Given the description of an element on the screen output the (x, y) to click on. 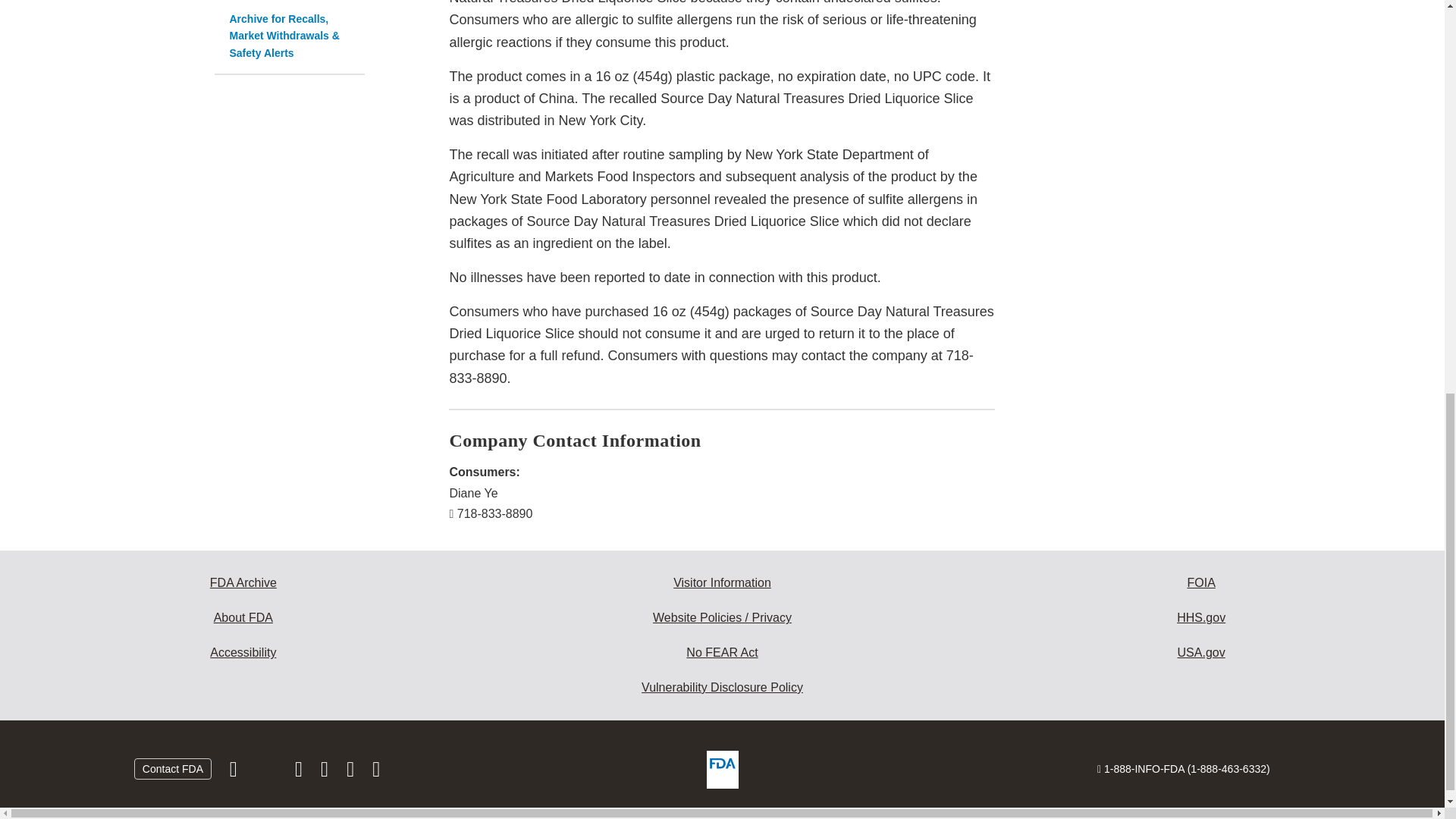
Health and Human Services (1200, 617)
Follow FDA on Facebook (234, 772)
Subscribe to FDA RSS feeds (376, 772)
Follow FDA on LinkedIn (326, 772)
Freedom of Information Act (1200, 582)
Follow FDA on Instagram (299, 772)
Follow FDA on X (266, 772)
View FDA videos on YouTube (352, 772)
